Given the description of an element on the screen output the (x, y) to click on. 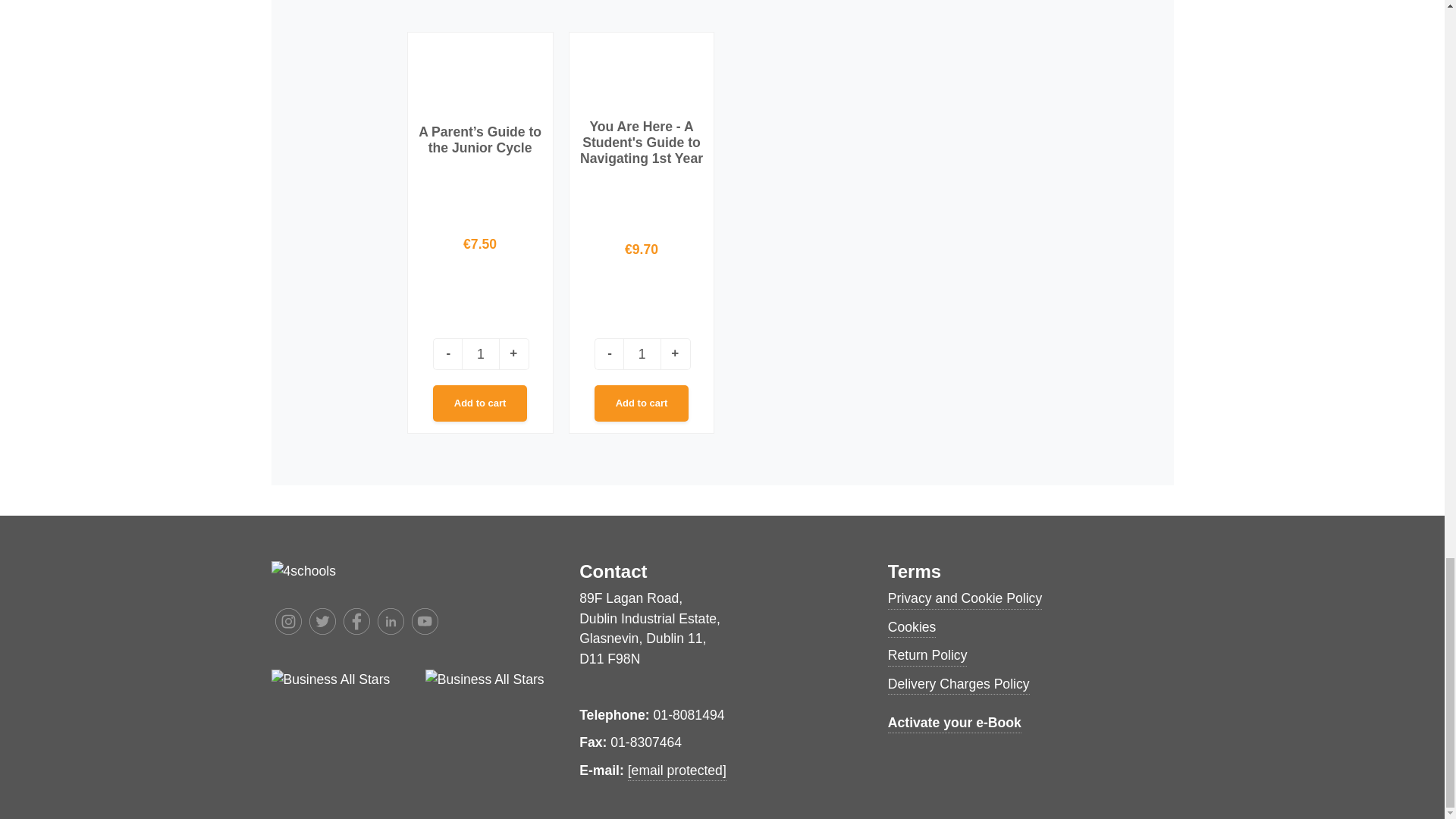
1 (642, 354)
4Schools Facebook Account (355, 621)
Add to cart (479, 402)
Follow us on LinkedIn (389, 621)
Follow us on Instagram (287, 621)
Follow us on YouTube (424, 621)
Add to cart (641, 402)
4Schools-youtube4Schools YouTube Account (424, 621)
4Schools Twitter Account (322, 621)
4Schools Instagram Account (288, 621)
4Schools LinkedIn Account (390, 621)
Follow us on Facebook (356, 621)
Follow us on Twitter (321, 621)
1 (480, 354)
